Given the description of an element on the screen output the (x, y) to click on. 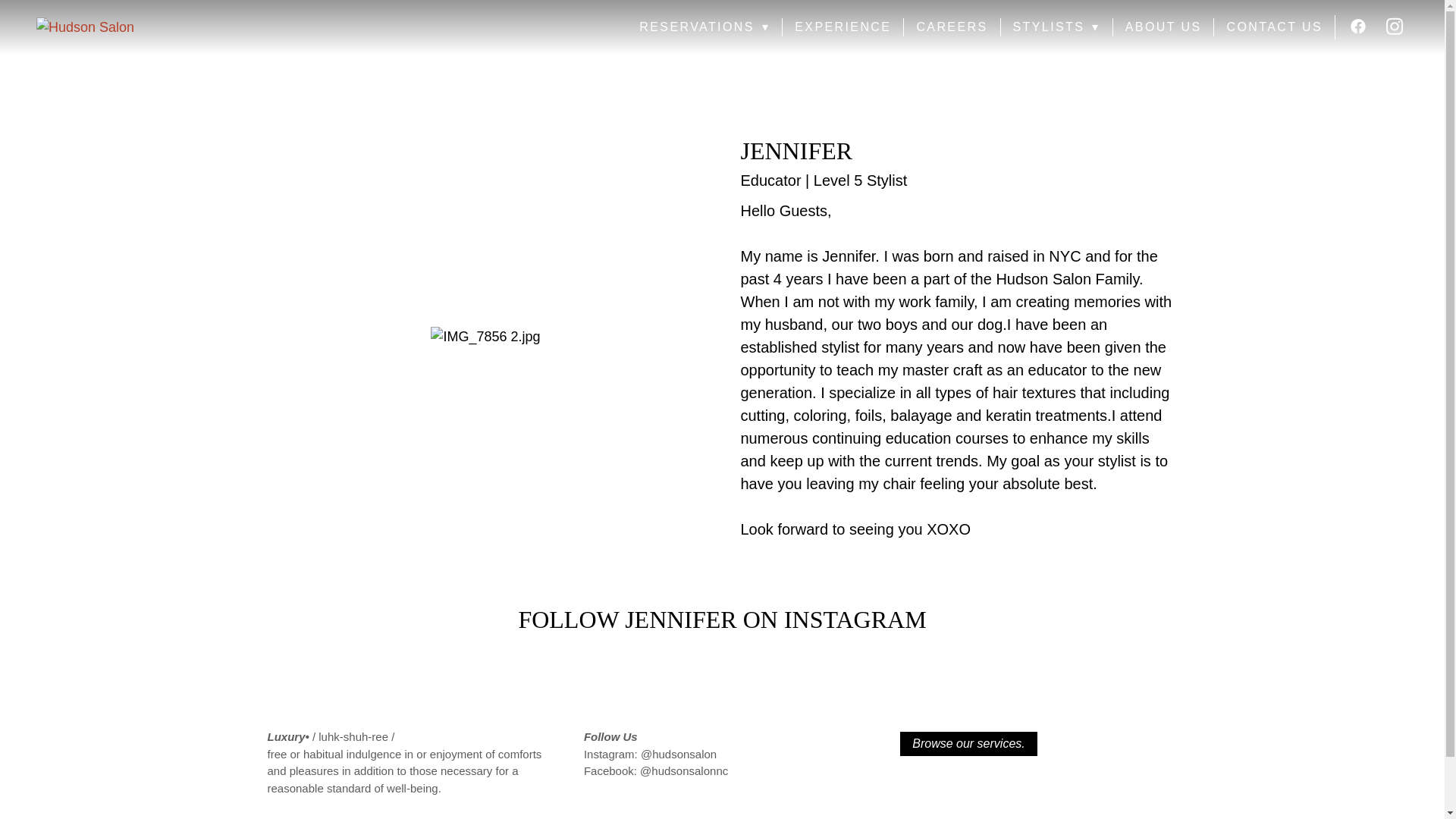
CONTACT US (1273, 27)
CAREERS (951, 27)
ABOUT US (1163, 27)
Hudson Salon (145, 26)
EXPERIENCE (842, 27)
Browse our services. (967, 743)
